Given the description of an element on the screen output the (x, y) to click on. 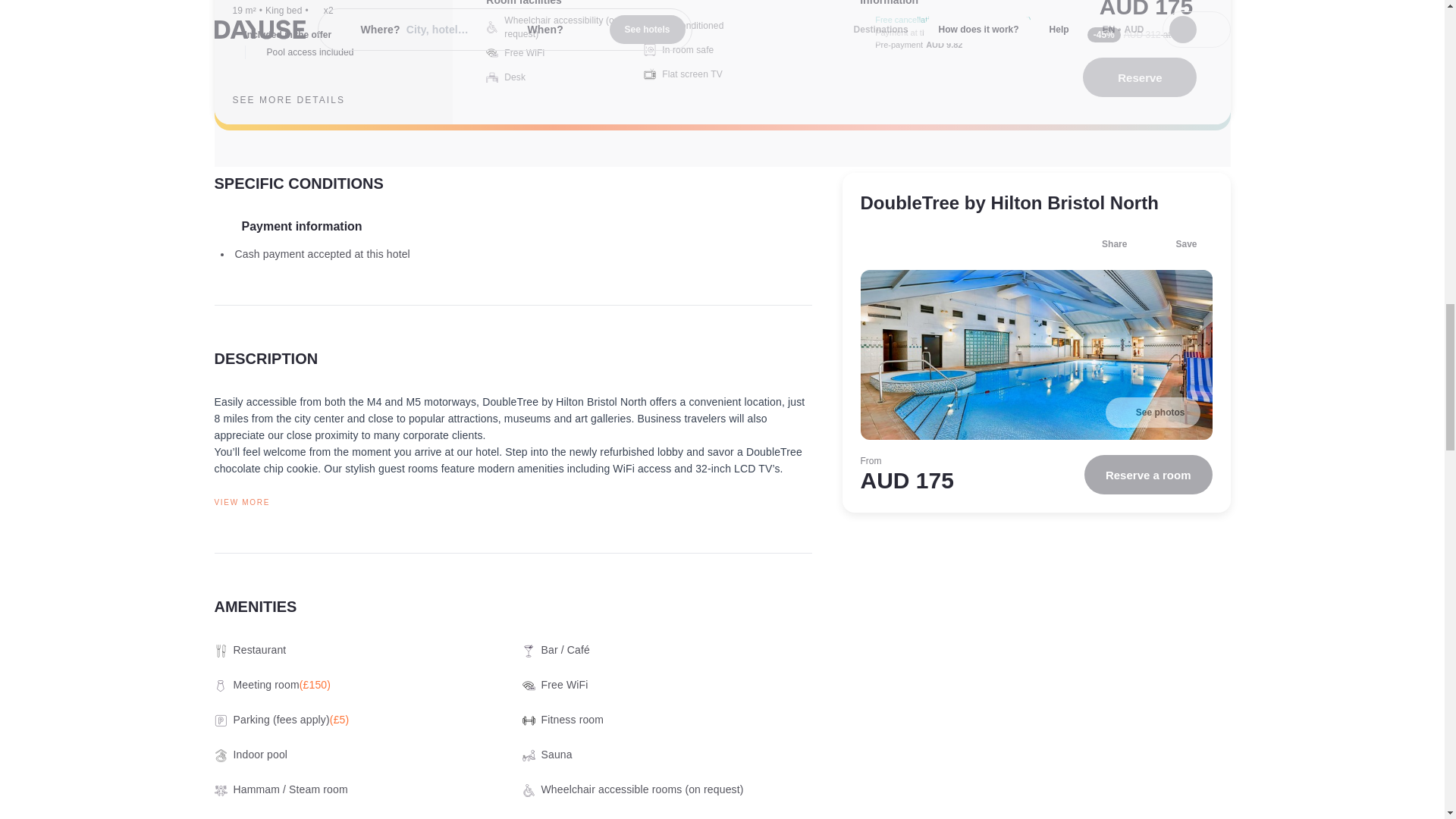
VIEW MORE (512, 502)
Reserve (1139, 77)
SEE MORE DETAILS (300, 99)
